Given the description of an element on the screen output the (x, y) to click on. 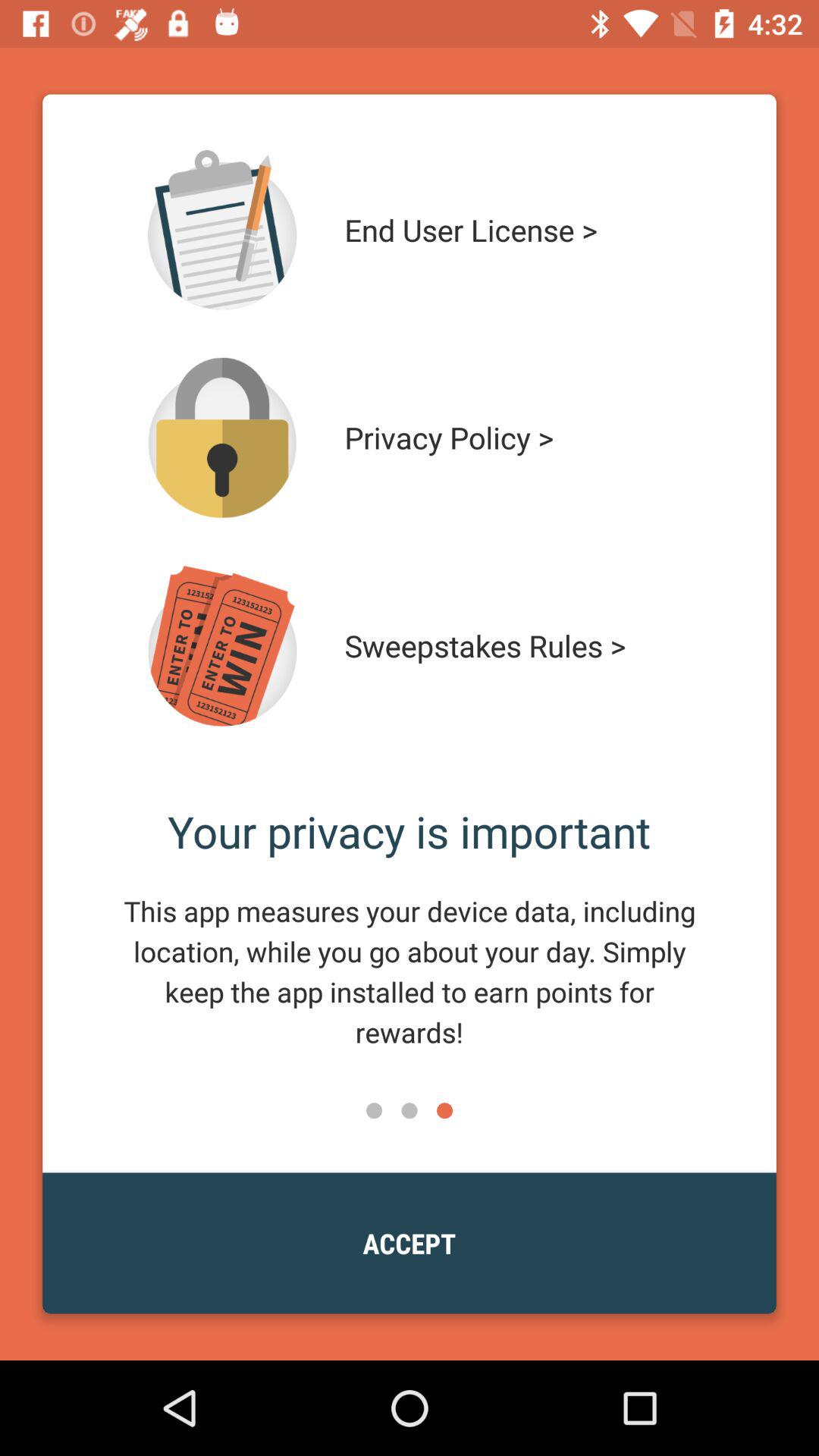
scroll until privacy policy > icon (514, 437)
